Given the description of an element on the screen output the (x, y) to click on. 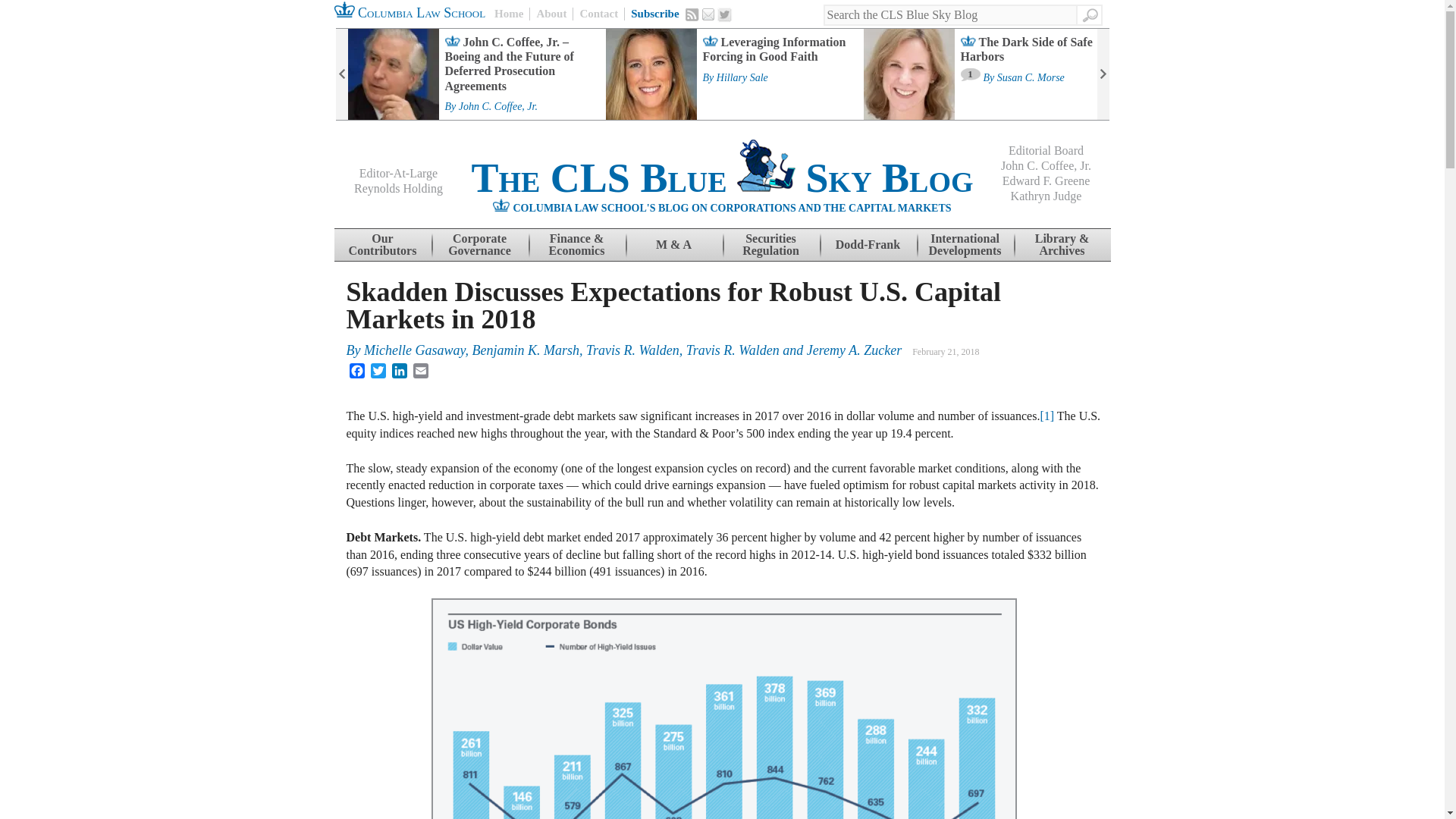
Search (1089, 14)
About (550, 13)
RSS (691, 14)
Home (512, 13)
John C. Coffee, Jr. (497, 106)
Twitter (724, 14)
Email (707, 14)
Previous (340, 73)
Reynolds Holding (397, 187)
Next Article (1102, 73)
RSS (691, 14)
Email (707, 14)
Columbia Law School (408, 12)
Contact (598, 13)
Search (1089, 14)
